Given the description of an element on the screen output the (x, y) to click on. 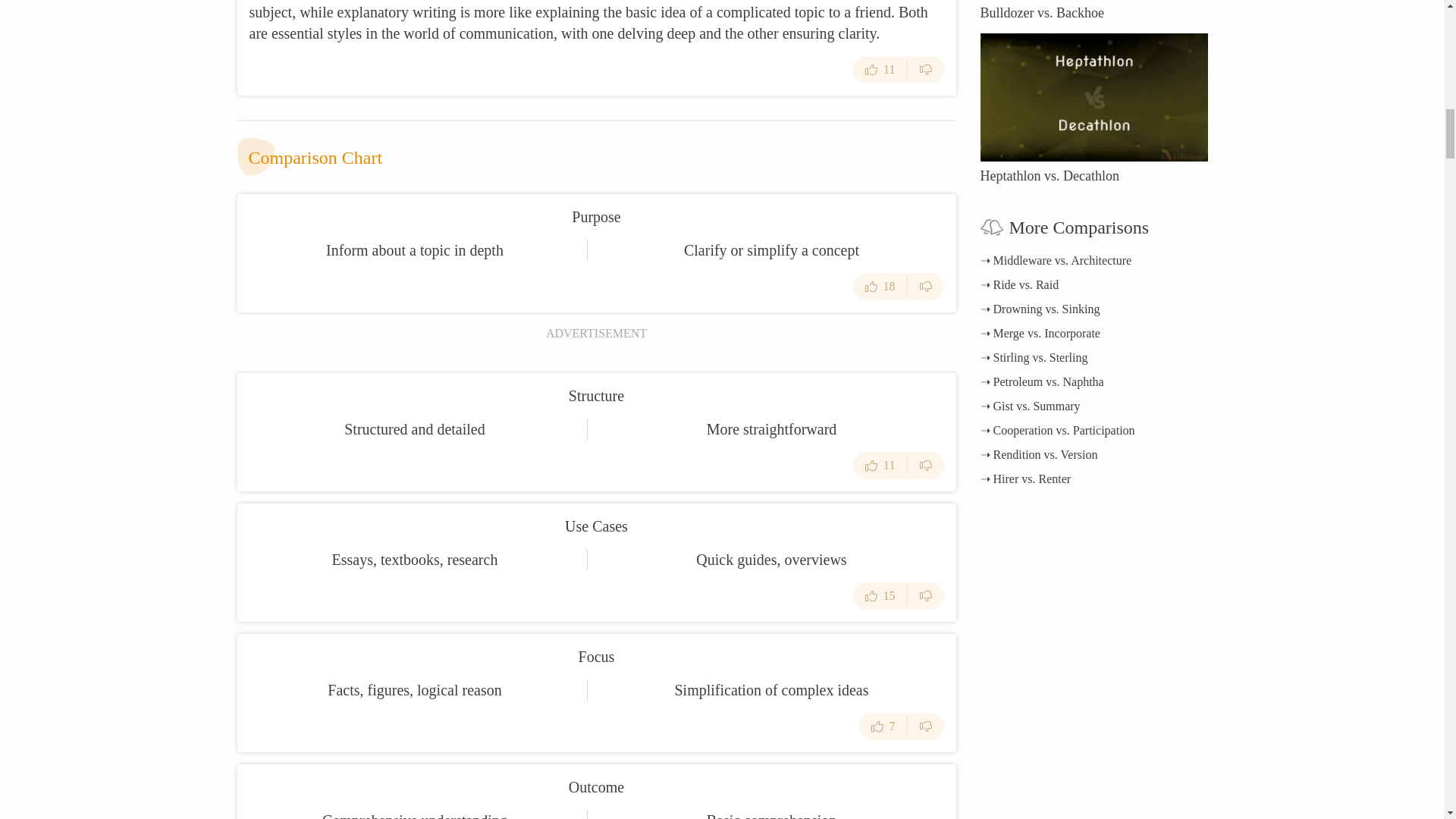
7 (883, 726)
15 (879, 595)
11 (880, 69)
18 (879, 286)
11 (880, 465)
